Given the description of an element on the screen output the (x, y) to click on. 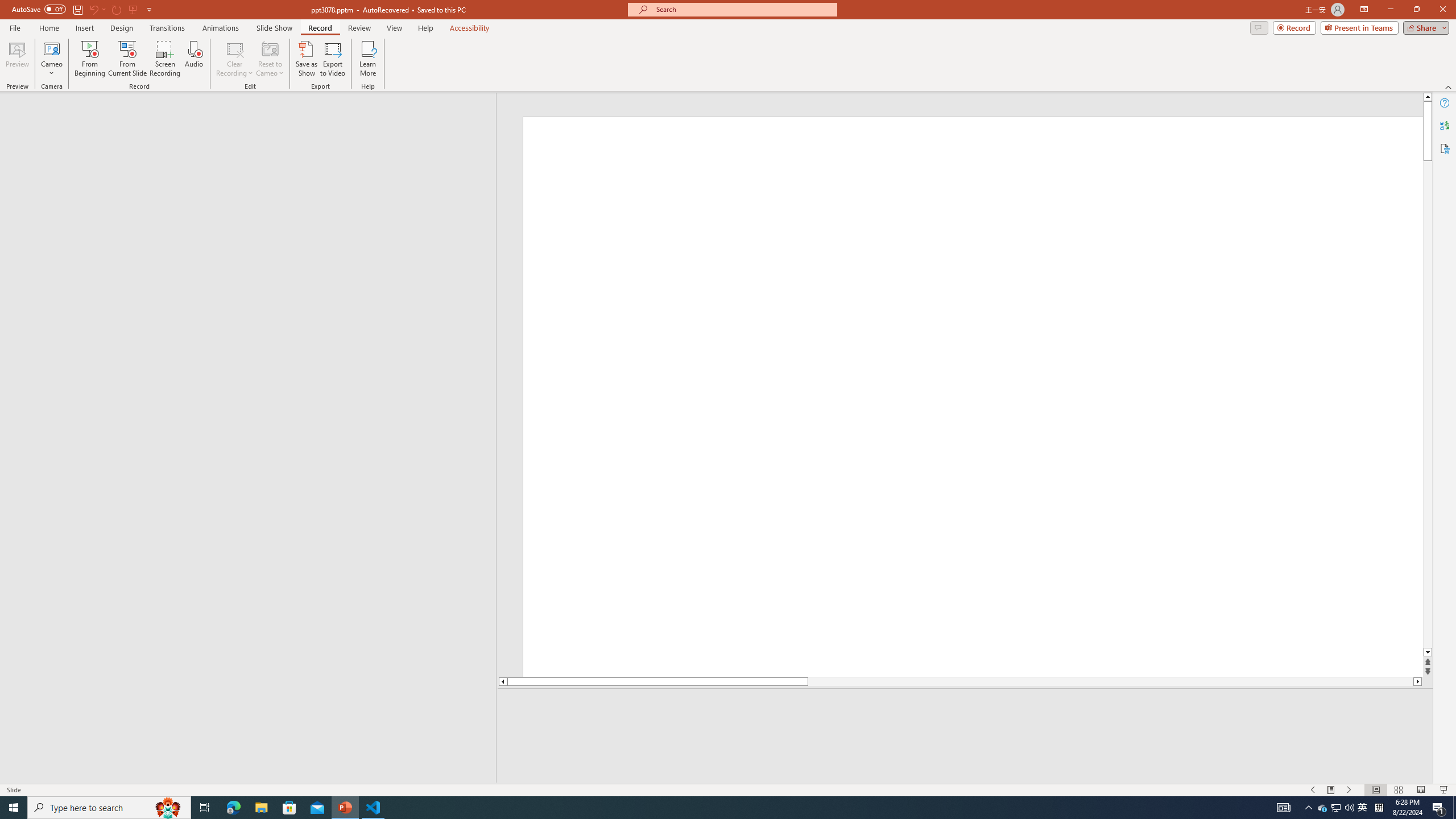
Outline (252, 114)
From Beginning... (89, 58)
